Given the description of an element on the screen output the (x, y) to click on. 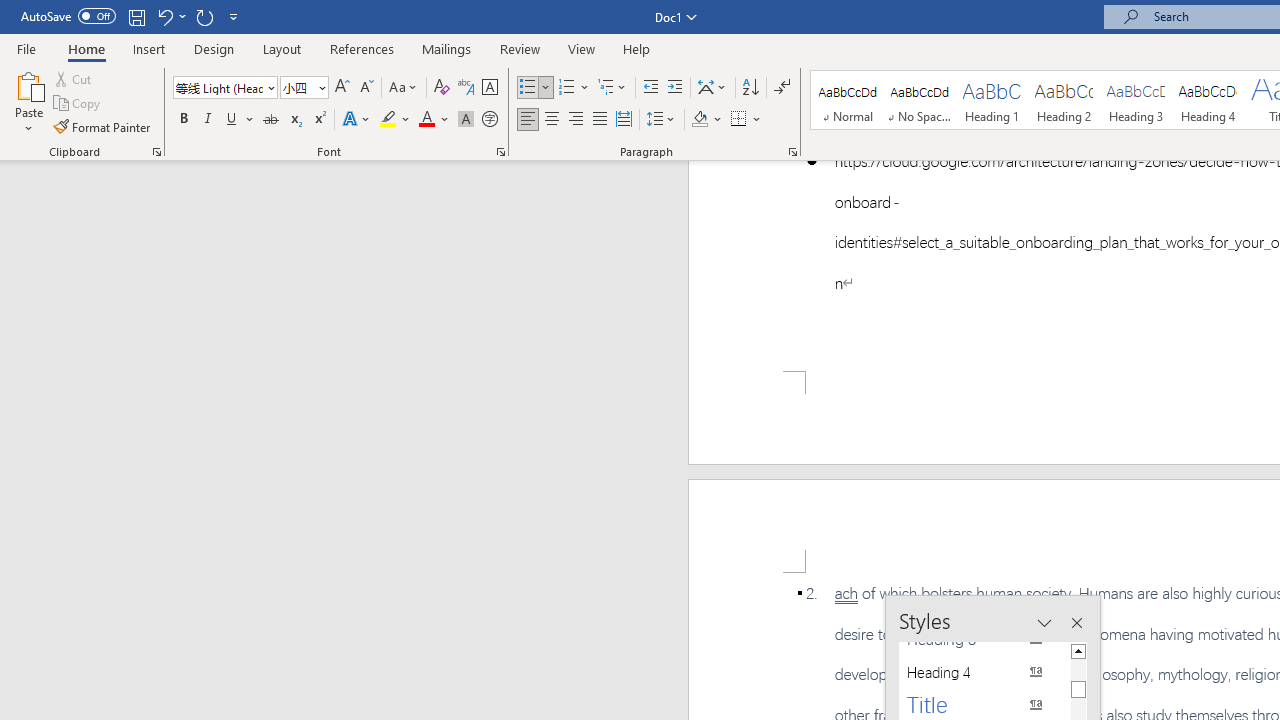
Text Effects and Typography (357, 119)
Heading 1 (991, 100)
Increase Indent (675, 87)
Multilevel List (613, 87)
Heading 4 (1208, 100)
Repeat Bullet Default (204, 15)
